Given the description of an element on the screen output the (x, y) to click on. 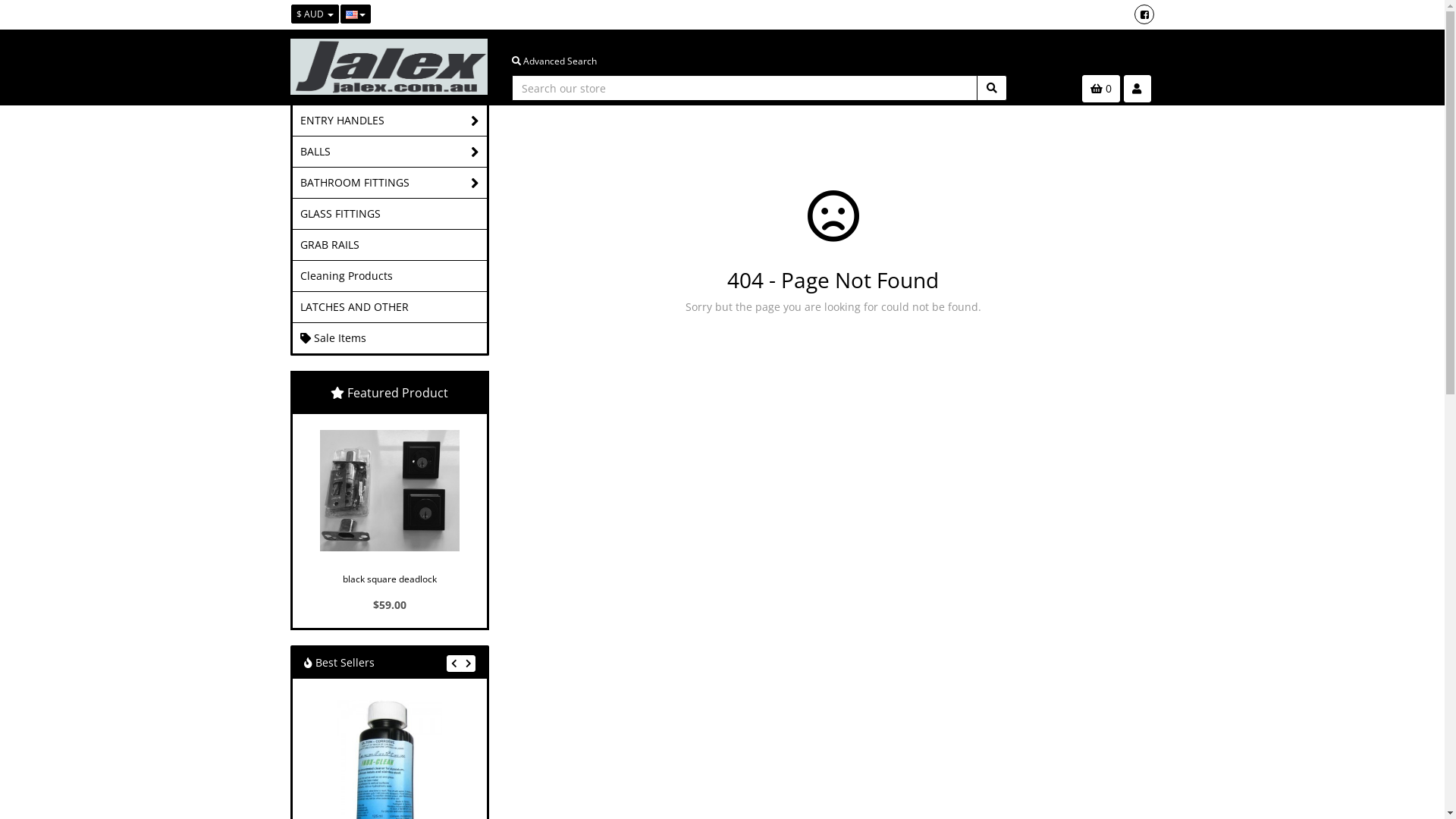
GRAB RAILS Element type: text (389, 244)
Search Element type: text (991, 87)
Sale Items Element type: text (389, 338)
Cleaning Products Element type: text (389, 275)
BALLS Element type: text (389, 151)
GLASS FITTINGS Element type: text (389, 213)
black square deadlock  Element type: hover (389, 490)
BATHROOM FITTINGS Element type: text (389, 182)
English (US) Element type: hover (354, 13)
Facebook Element type: hover (1144, 14)
black square deadlock Element type: text (389, 576)
$ AUD Element type: text (314, 13)
ENTRY HANDLES Element type: text (389, 120)
Advanced Search Element type: text (553, 60)
0 Element type: text (1100, 88)
LATCHES AND OTHER Element type: text (389, 306)
